Given the description of an element on the screen output the (x, y) to click on. 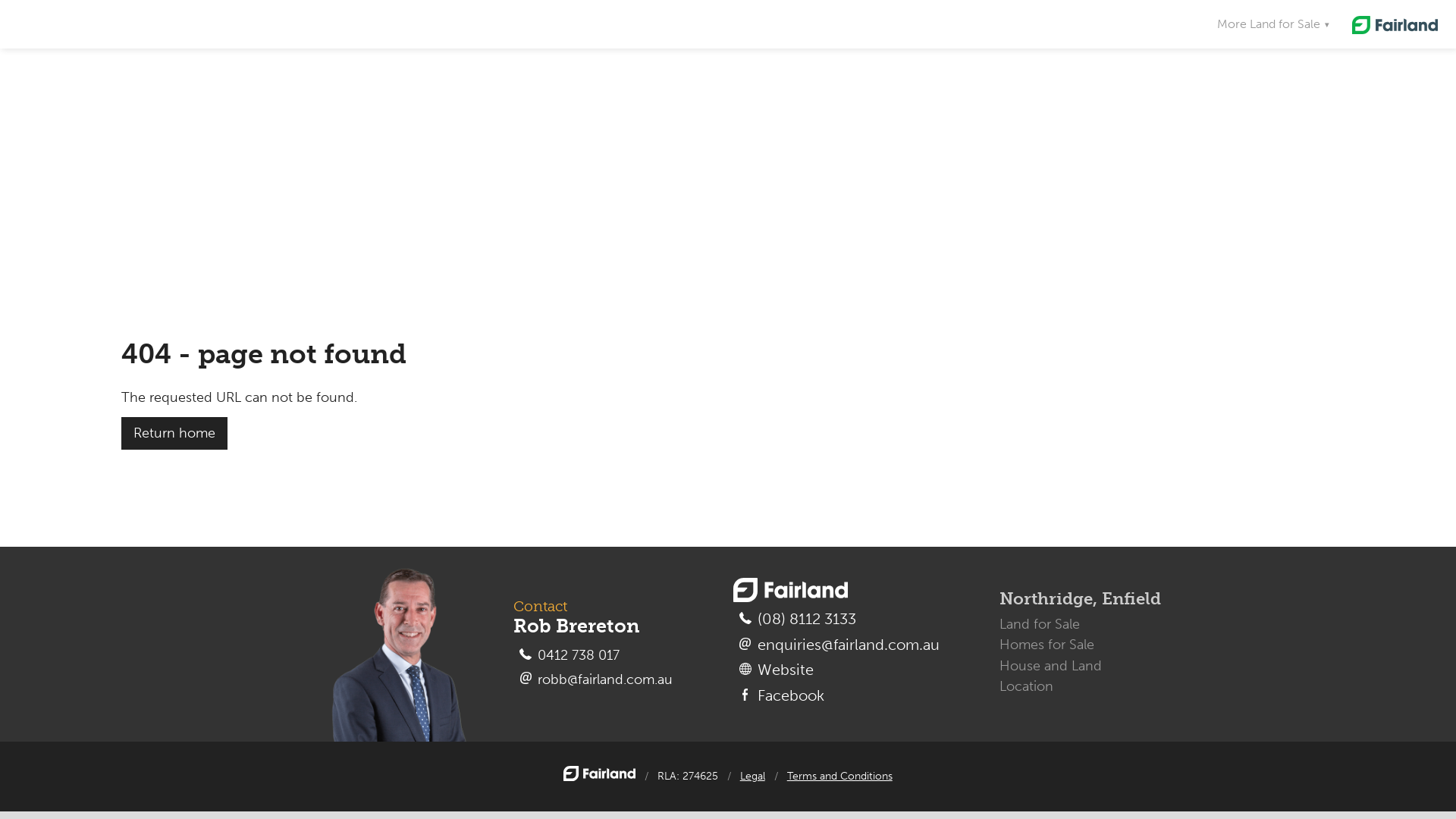
House and Land Element type: text (1050, 665)
enquiries@fairland.com.au Element type: text (828, 644)
Land for Sale Element type: text (1039, 624)
0412 738 017 Element type: text (586, 655)
Legal Element type: text (752, 775)
Facebook Element type: text (828, 695)
(08) 8112 3133 Element type: text (828, 619)
Homes for Sale Element type: text (1046, 644)
Return home Element type: text (174, 433)
robb@fairland.com.au Element type: text (586, 679)
Location Element type: text (1026, 686)
Website Element type: text (828, 669)
Menu Element type: text (1343, 145)
More Land for Sale Element type: text (1273, 24)
Terms and Conditions Element type: text (839, 775)
